Given the description of an element on the screen output the (x, y) to click on. 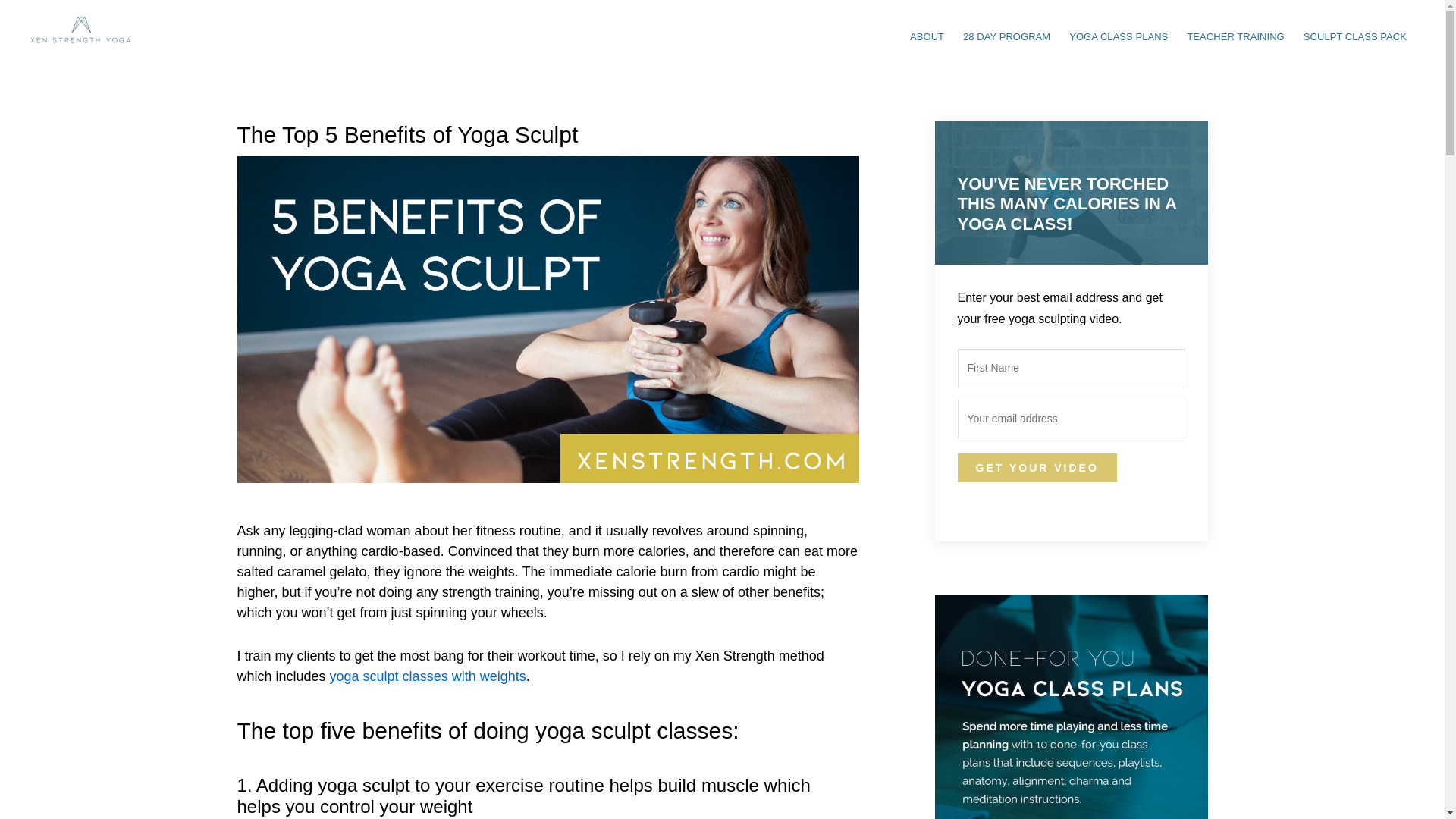
yoga sculpt classes with weights (427, 676)
XEN STRENGTH YOGA SCULPT (80, 30)
YOGA CLASS PLANS (1117, 36)
SCULPT CLASS PACK (1354, 36)
TEACHER TRAINING (1235, 36)
ABOUT (927, 36)
GET YOUR VIDEO (1036, 467)
28 DAY PROGRAM (1006, 36)
